Given the description of an element on the screen output the (x, y) to click on. 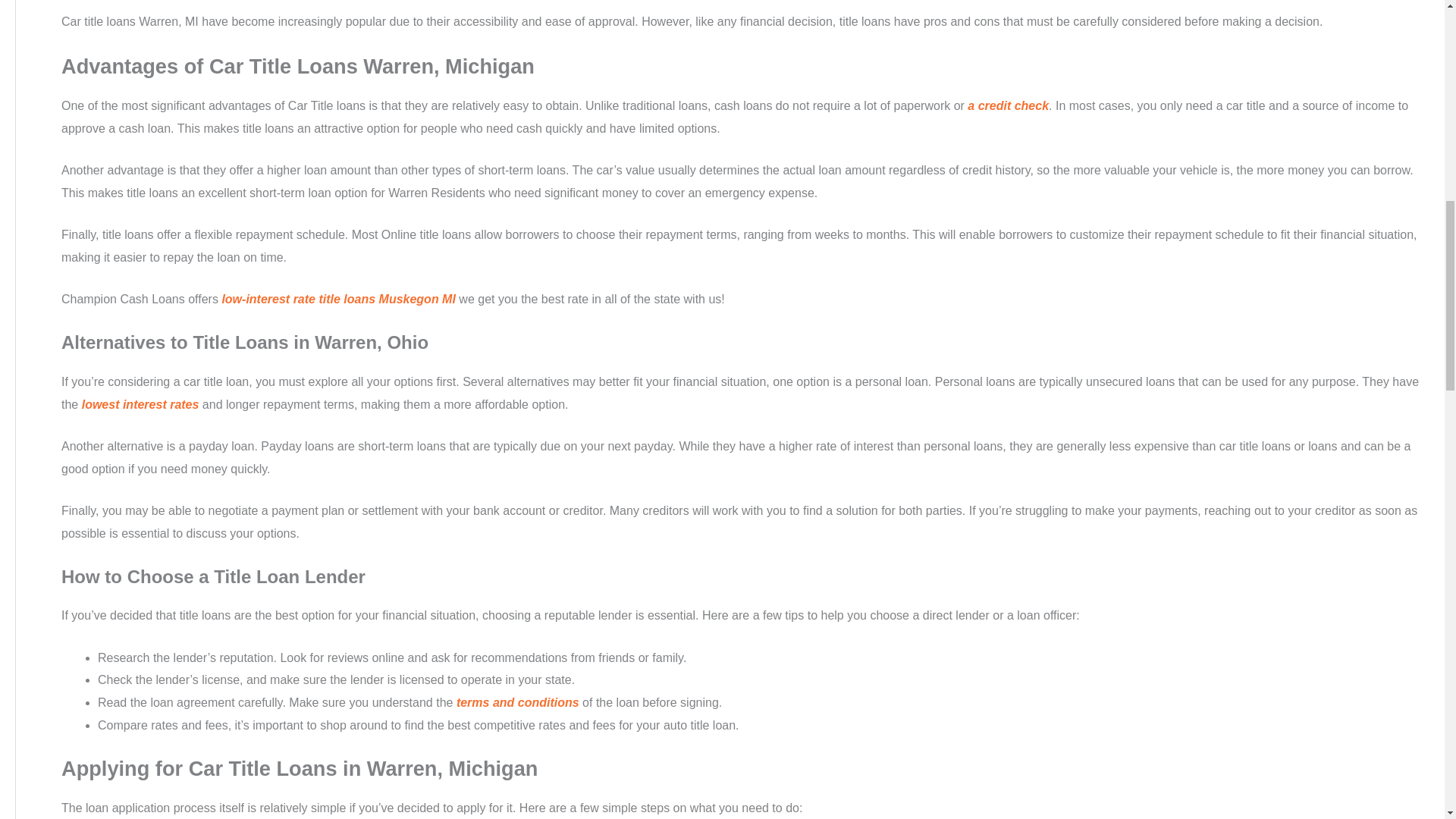
low-interest rate title loans Muskegon MI (338, 298)
a credit check (1008, 105)
terms and conditions (518, 702)
lowest interest rates (140, 404)
